Given the description of an element on the screen output the (x, y) to click on. 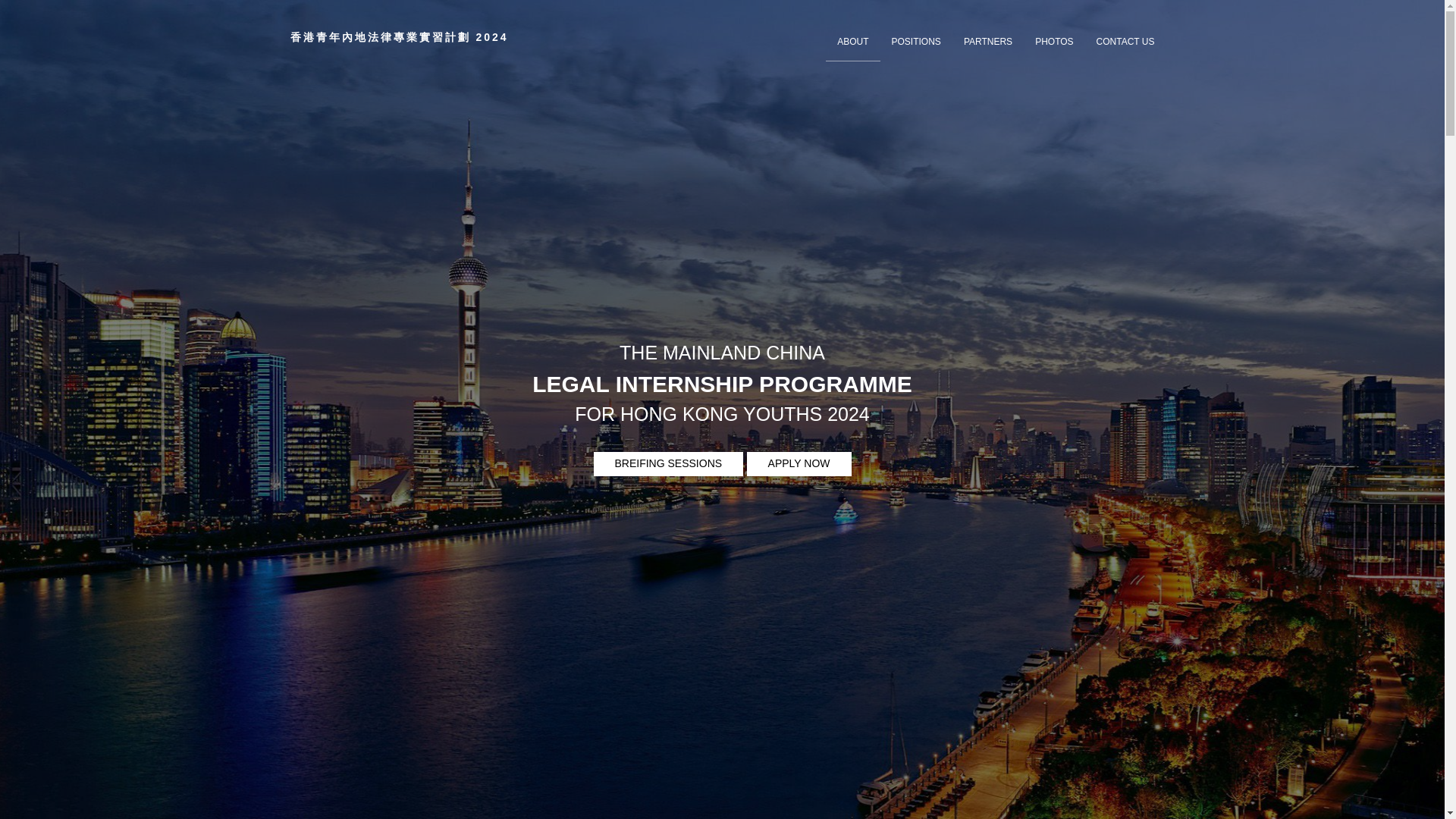
PHOTOS (1053, 41)
PARTNERS (987, 41)
APPLY NOW (798, 463)
CONTACT US (1125, 41)
BREIFING SESSIONS (667, 463)
ABOUT (852, 41)
POSITIONS (916, 41)
